Given the description of an element on the screen output the (x, y) to click on. 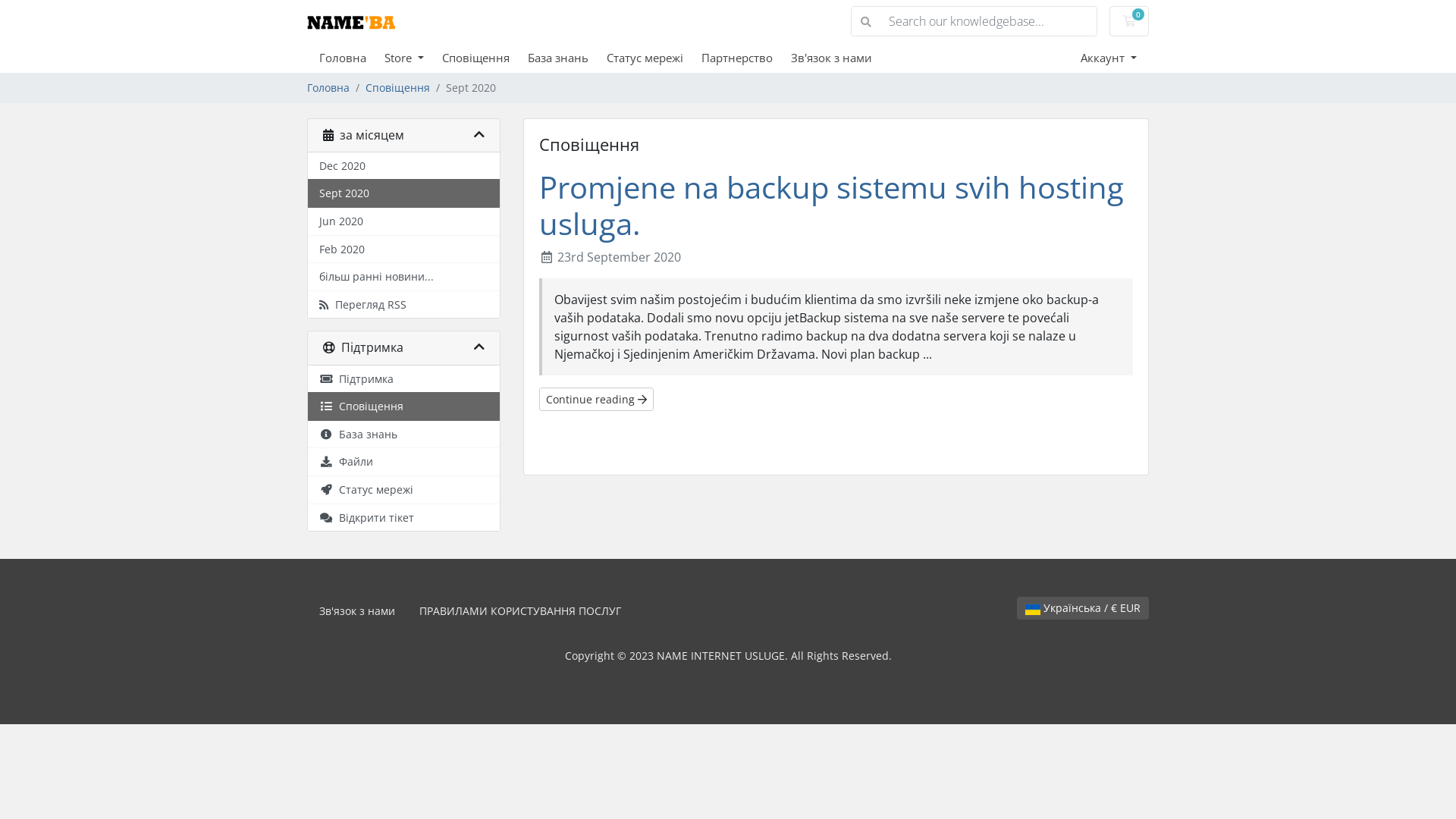
Jun 2020 Element type: text (403, 221)
Sept 2020 Element type: text (403, 192)
Continue reading Element type: text (596, 399)
Promjene na backup sistemu svih hosting usluga. Element type: text (831, 205)
Store Element type: text (413, 57)
Feb 2020 Element type: text (403, 249)
Dec 2020 Element type: text (403, 166)
